Given the description of an element on the screen output the (x, y) to click on. 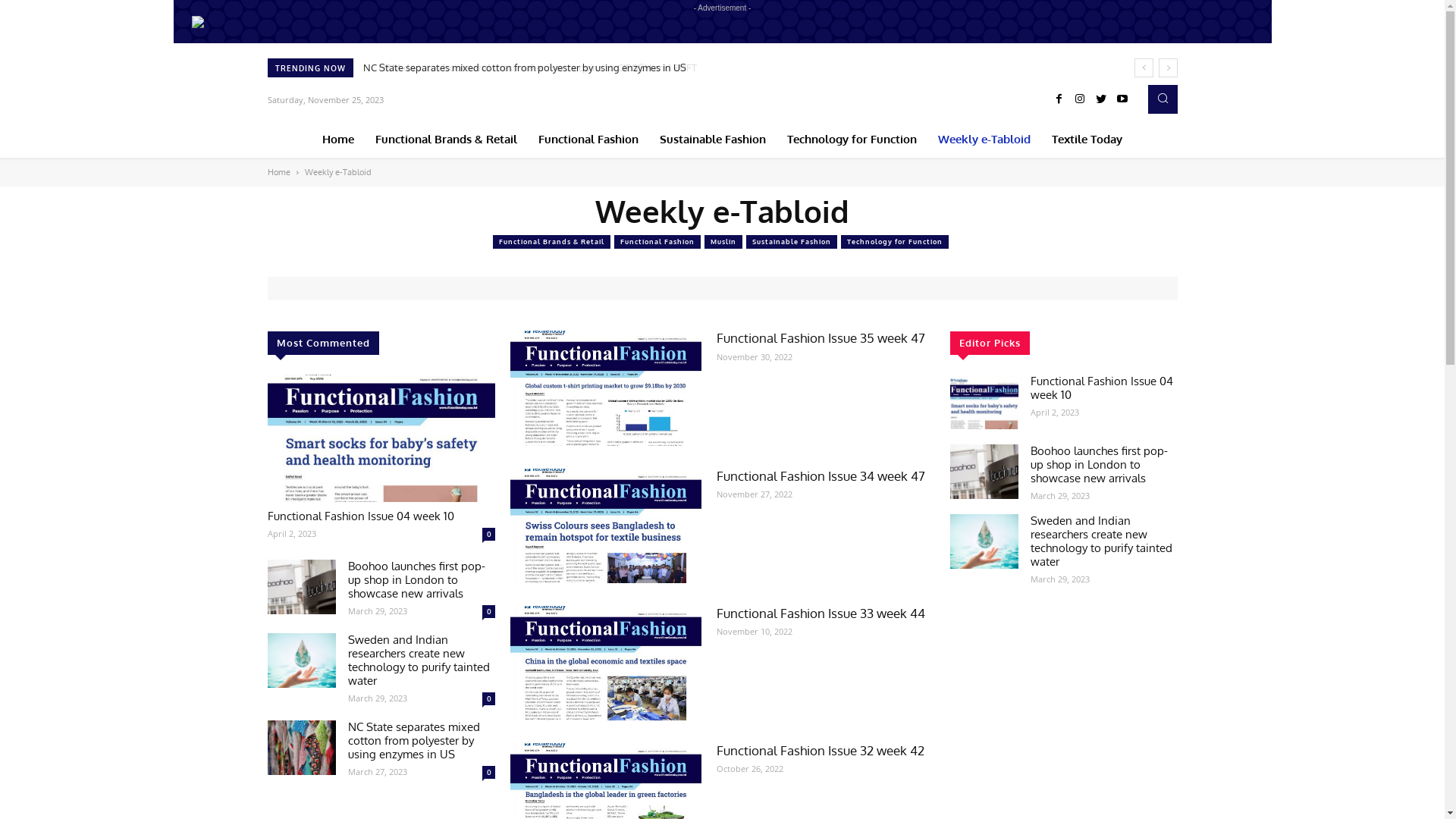
Muslin Element type: text (722, 241)
0 Element type: text (488, 533)
Sustainable Fashion Element type: text (791, 241)
Functional Fashion Issue 04 week 10 Element type: text (359, 515)
Functional Fashion Issue 04 week 10 Element type: hover (380, 438)
Weekly e-Tabloid Element type: text (984, 139)
Functional Brands & Retail Element type: text (551, 241)
0 Element type: text (488, 611)
Functional Brands & Retail Element type: text (445, 139)
Technology for Function Element type: text (851, 139)
Functional Fashion Issue 35 week 47 Element type: hover (604, 387)
Functional Fashion Issue 32 week 42 Element type: text (819, 750)
Functional Fashion Issue 34 week 47 Element type: hover (604, 525)
Functional Fashion Issue 04 week 10 Element type: text (1100, 387)
0 Element type: text (488, 698)
Functional Fashion Element type: text (588, 139)
Textile Today Element type: text (1086, 139)
Sustainable Fashion Element type: text (712, 139)
Functional Fashion Element type: text (657, 241)
Technology for Function Element type: text (893, 241)
Functional Fashion Issue 04 week 10 Element type: hover (983, 401)
Functional Fashion Issue 35 week 47 Element type: text (819, 337)
Home Element type: text (277, 171)
Home Element type: text (337, 139)
0 Element type: text (488, 771)
Functional Fashion Issue 33 week 44 Element type: text (819, 613)
Functional Fashion Issue 33 week 44 Element type: hover (604, 662)
Functional Fashion Issue 34 week 47 Element type: text (819, 475)
